Given the description of an element on the screen output the (x, y) to click on. 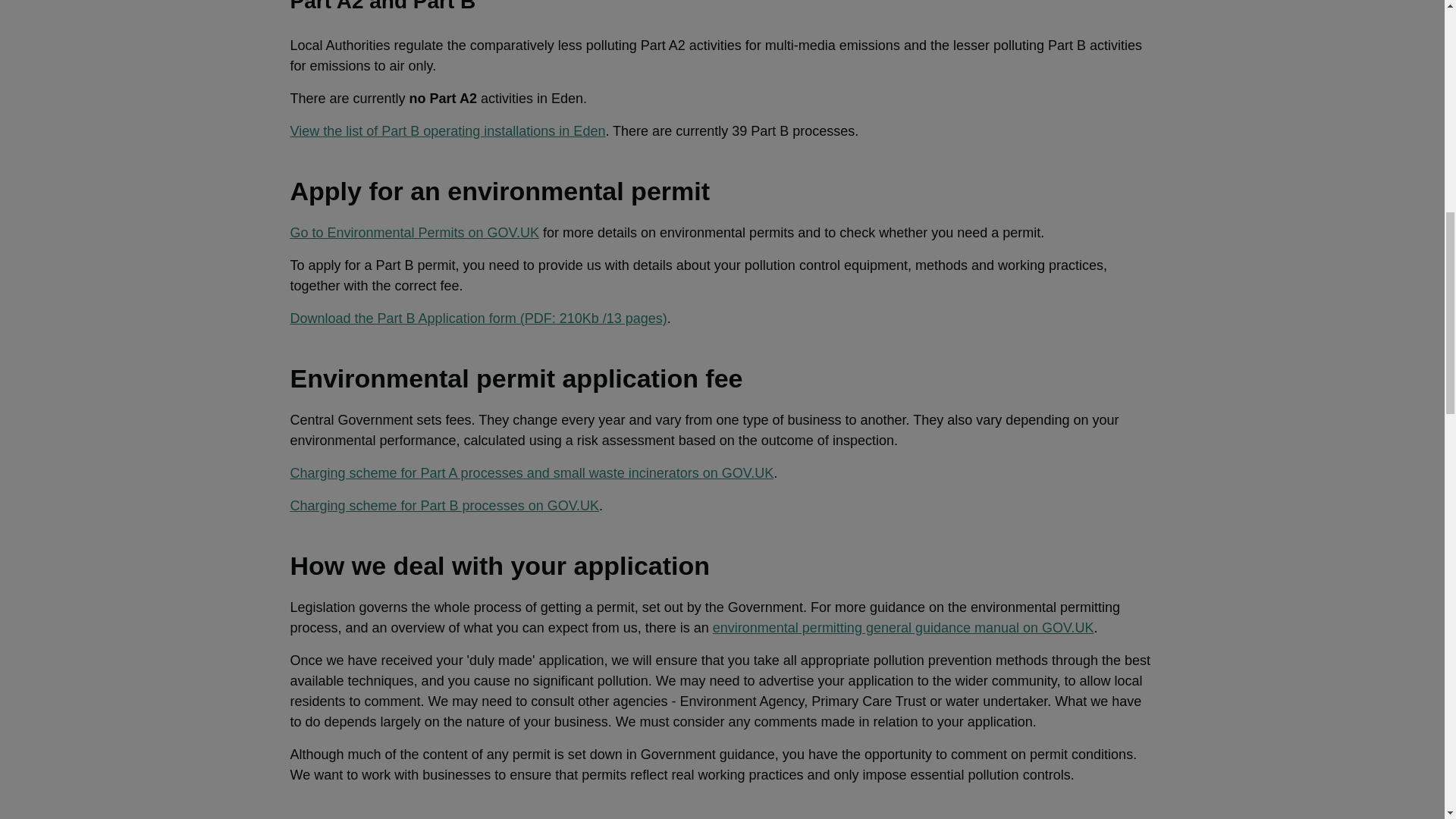
Charging scheme for Part B processes on GOV.UK (443, 505)
Environmental permits Part B permit application (477, 318)
Part B operating installations (447, 130)
Go to Environmental Permits on GOV.UK (413, 232)
View the list of Part B operating installations in Eden (447, 130)
environmental permitting general guidance manual on GOV.UK (903, 627)
Environmental permits: GOV.UK (413, 232)
